Given the description of an element on the screen output the (x, y) to click on. 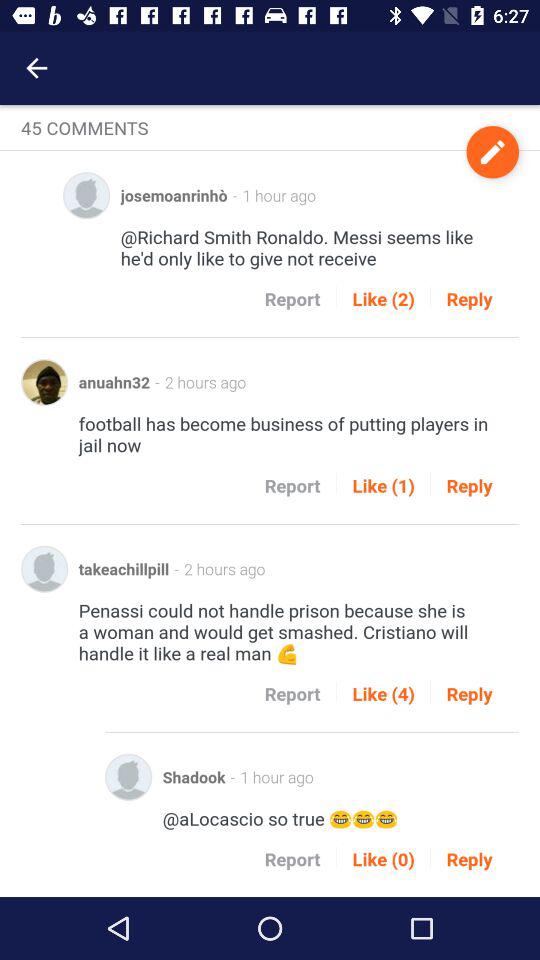
draft new message (492, 152)
